Given the description of an element on the screen output the (x, y) to click on. 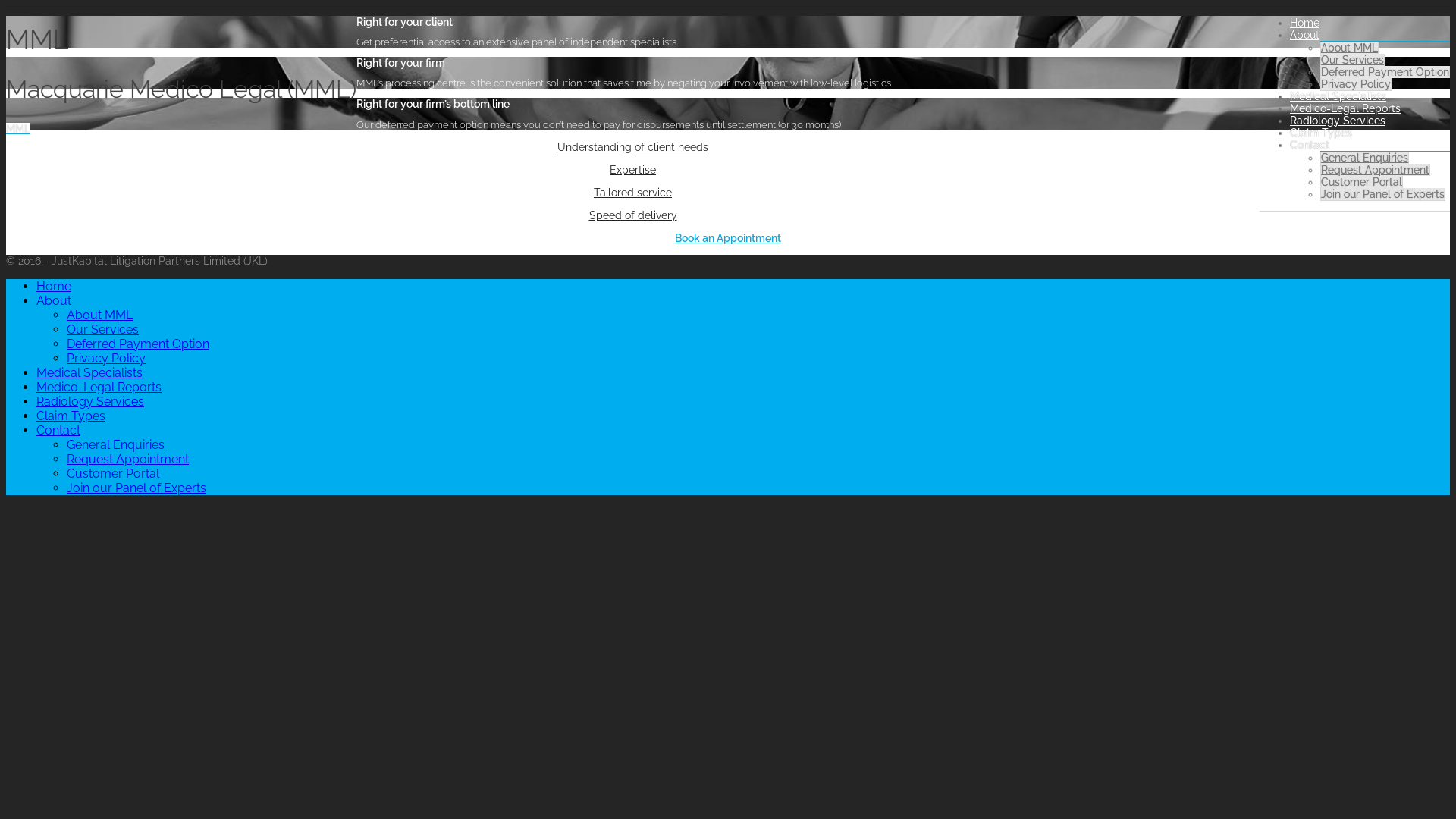
Customer Portal Element type: text (1361, 181)
Customer Portal Element type: text (112, 473)
Contact Element type: text (58, 430)
Contact Element type: text (1309, 144)
Tailored service Element type: text (632, 192)
Privacy Policy Element type: text (1355, 84)
About MML Element type: text (1349, 47)
About Element type: text (53, 300)
Request Appointment Element type: text (127, 458)
Our Services Element type: text (102, 329)
General Enquiries Element type: text (115, 444)
Deferred Payment Option Element type: text (137, 343)
Home Element type: text (53, 286)
Medical Specialists Element type: text (89, 372)
Request Appointment Element type: text (1375, 169)
MML Element type: text (18, 128)
Privacy Policy Element type: text (105, 358)
About MML Element type: text (99, 314)
Join our Panel of Experts Element type: text (1382, 194)
Our Services Element type: text (1352, 59)
General Enquiries Element type: text (1364, 157)
Join our Panel of Experts Element type: text (136, 487)
Medical Specialists Element type: text (1337, 96)
Claim Types Element type: text (1320, 132)
Book an Appointment Element type: text (727, 238)
Speed of delivery Element type: text (632, 215)
Home Element type: text (1304, 22)
Understanding of client needs Element type: text (632, 147)
Radiology Services Element type: text (90, 401)
Medico-Legal Reports Element type: text (98, 386)
Deferred Payment Option Element type: text (1384, 71)
Claim Types Element type: text (70, 415)
Medico-Legal Reports Element type: text (1344, 108)
Radiology Services Element type: text (1337, 120)
Expertise Element type: text (632, 169)
About Element type: text (1304, 34)
